Given the description of an element on the screen output the (x, y) to click on. 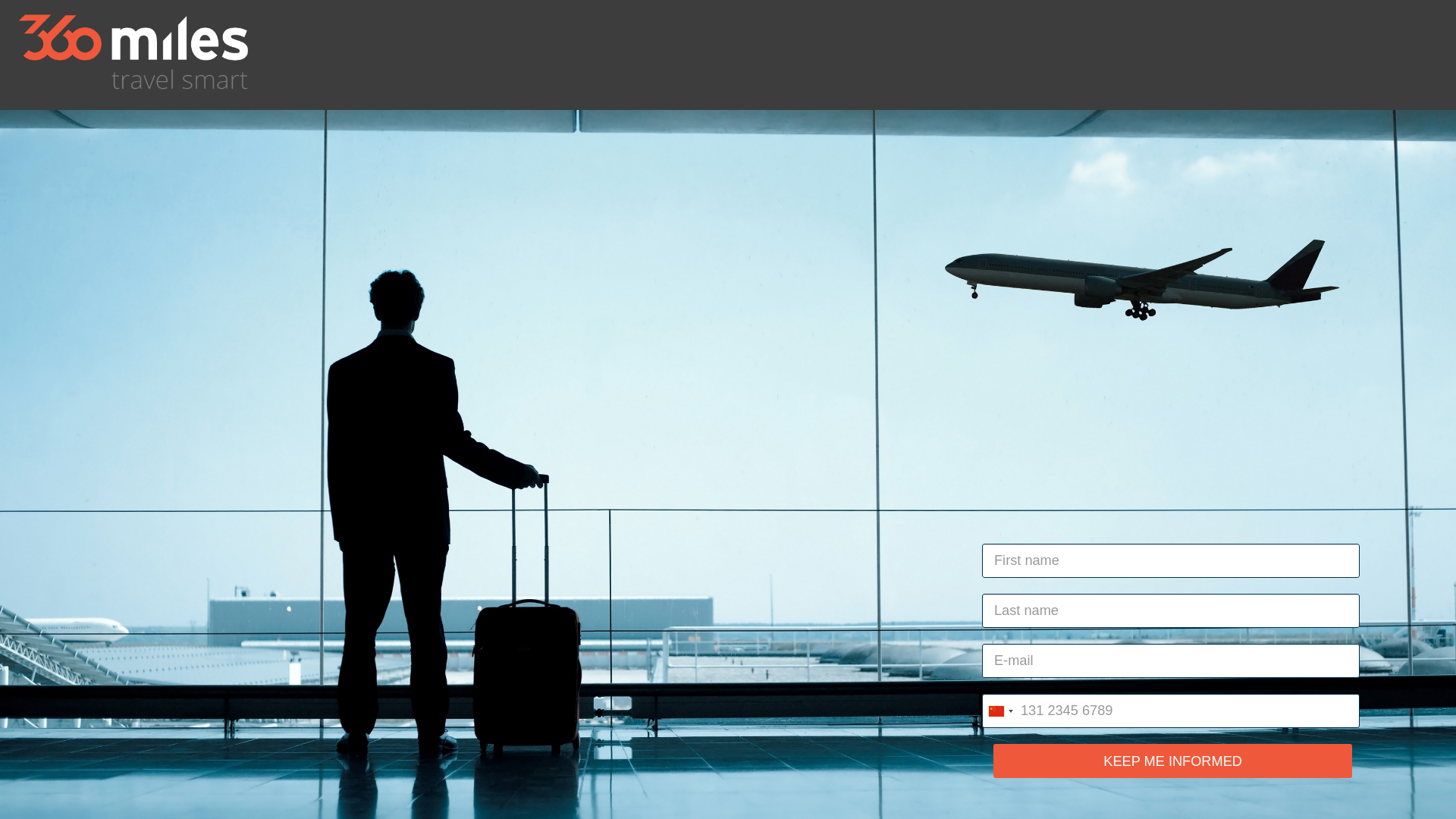
KEEP ME INFORMED Element type: text (1172, 760)
